Given the description of an element on the screen output the (x, y) to click on. 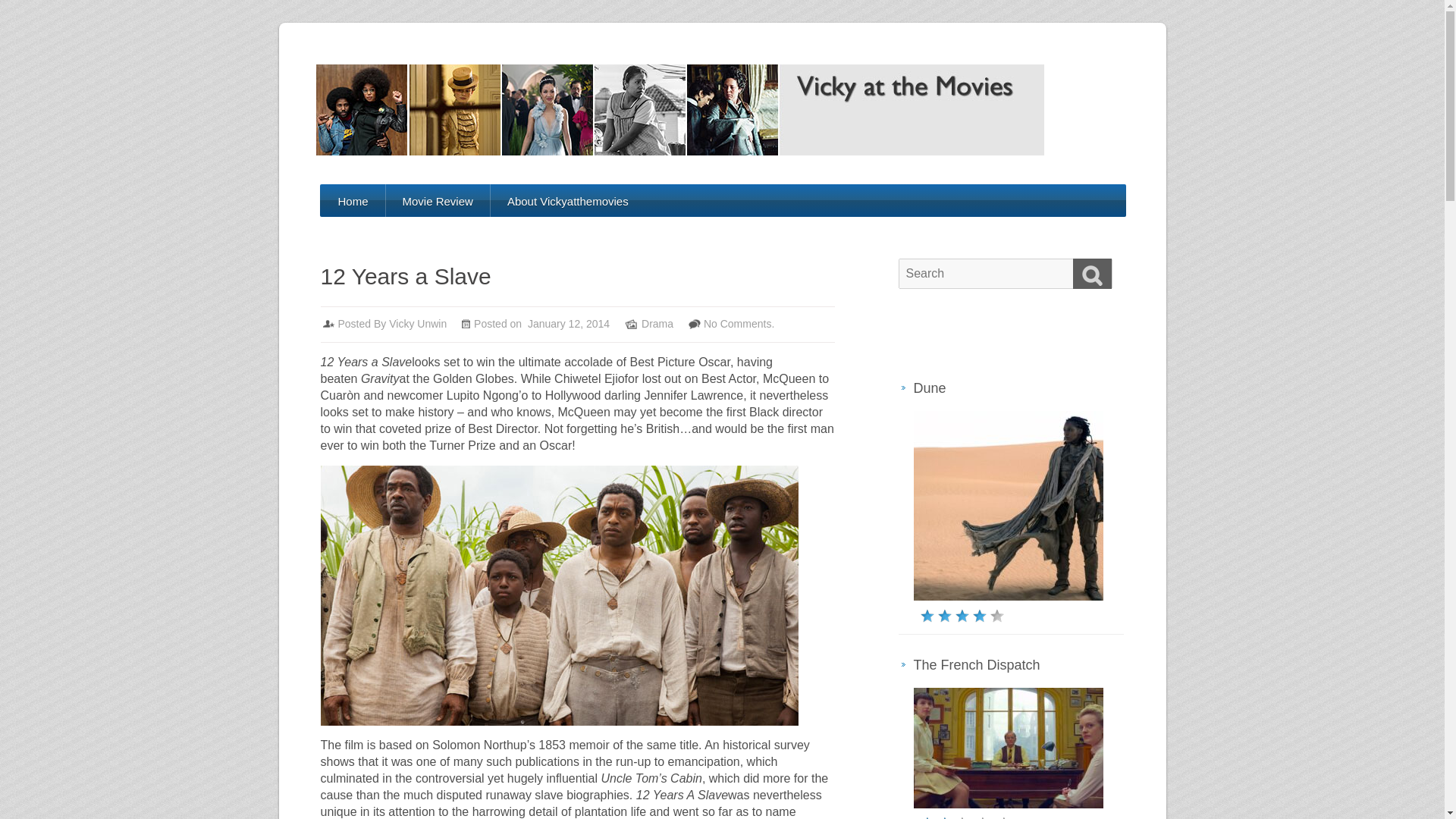
The French Dispatch (975, 664)
Home (353, 201)
Drama (657, 323)
About Vickyatthemovies (567, 201)
Vicky Unwin (417, 323)
No Comments. (738, 323)
Posts by Vicky Unwin (417, 323)
Dune (928, 387)
Dune (928, 387)
Movie Review (437, 201)
The French Dispatch (975, 664)
